Given the description of an element on the screen output the (x, y) to click on. 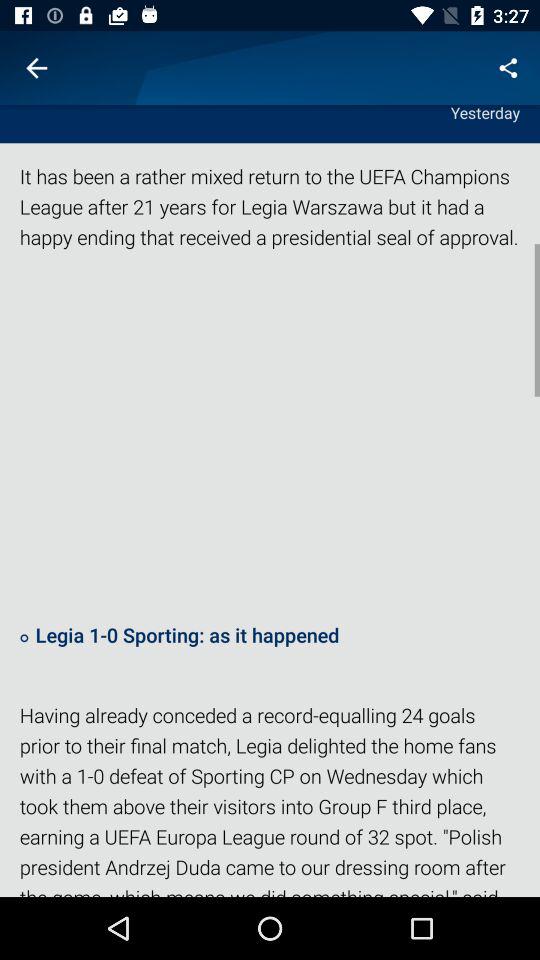
click the icon below the it has been (269, 435)
